Given the description of an element on the screen output the (x, y) to click on. 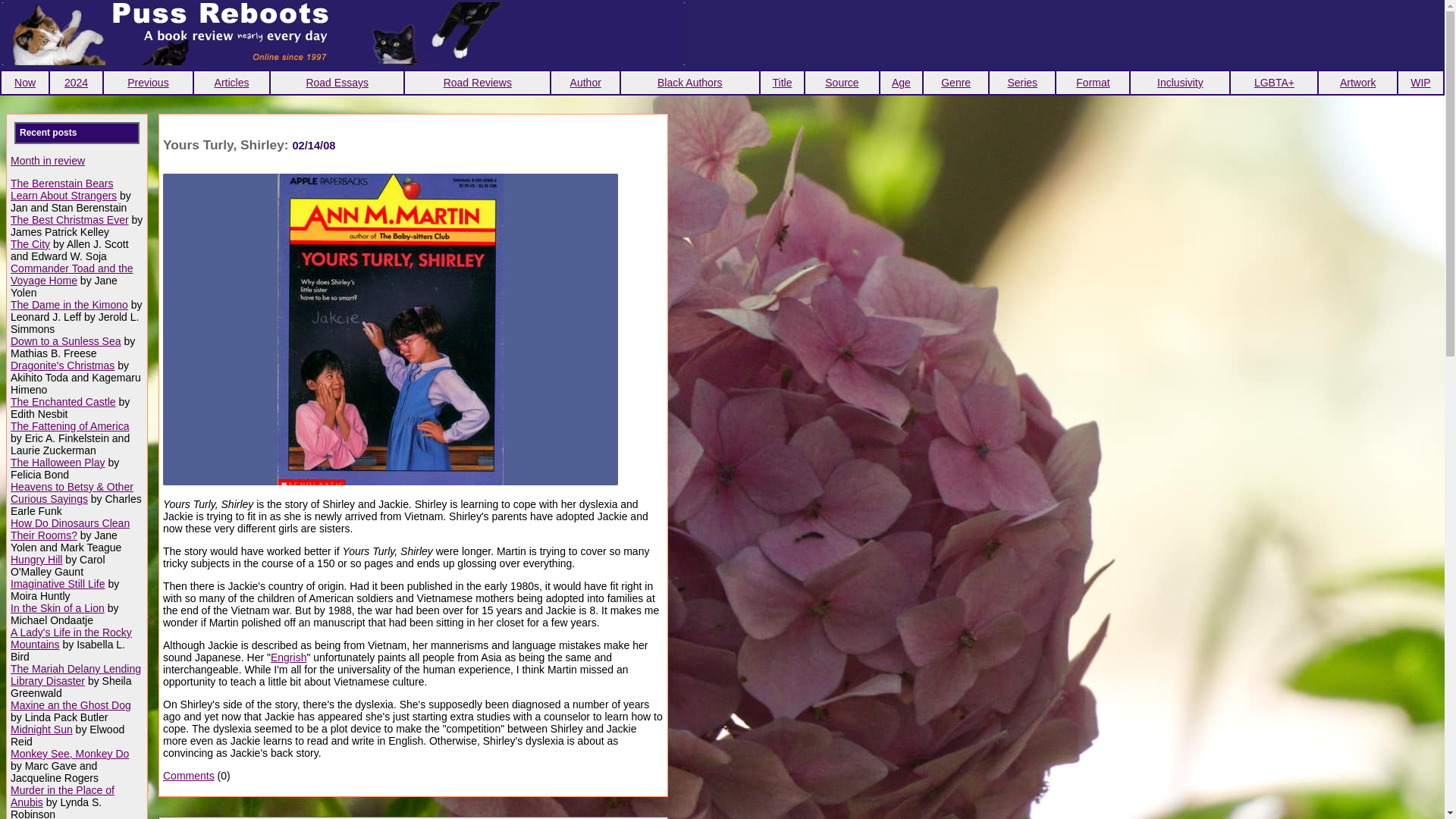
Previous (148, 82)
Monkey See, Monkey Do (69, 753)
Genre (955, 82)
How Do Dinosaurs Clean Their Rooms? (69, 528)
Dragonite's Christmas (62, 365)
Down to a Sunless Sea (65, 340)
Imaginative Still Life (57, 583)
The Fattening of America (69, 426)
Articles (231, 82)
Artwork (1357, 82)
